Given the description of an element on the screen output the (x, y) to click on. 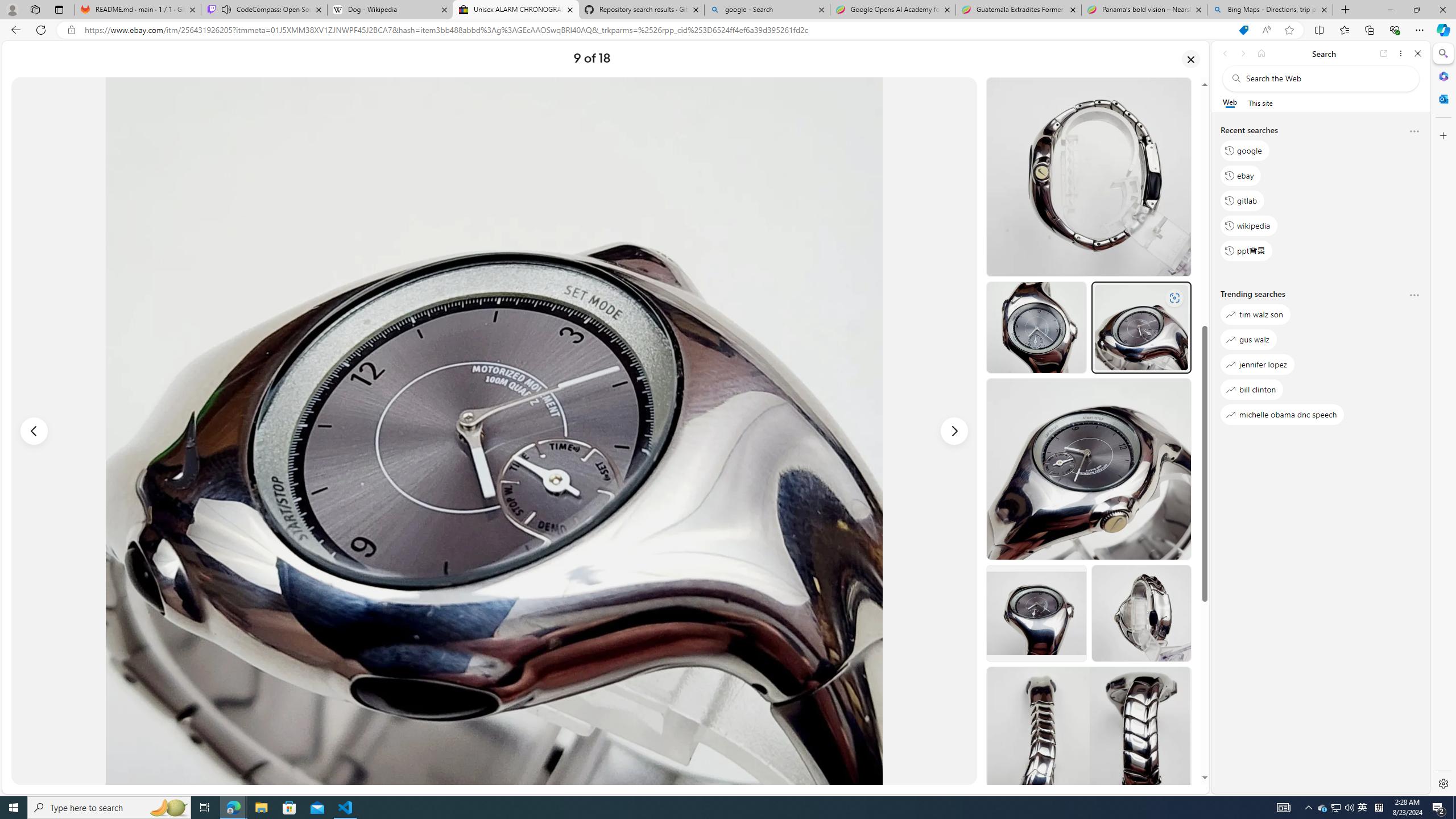
Next image - Item images thumbnails (954, 430)
tim walz son (1255, 314)
jennifer lopez (1257, 364)
